Given the description of an element on the screen output the (x, y) to click on. 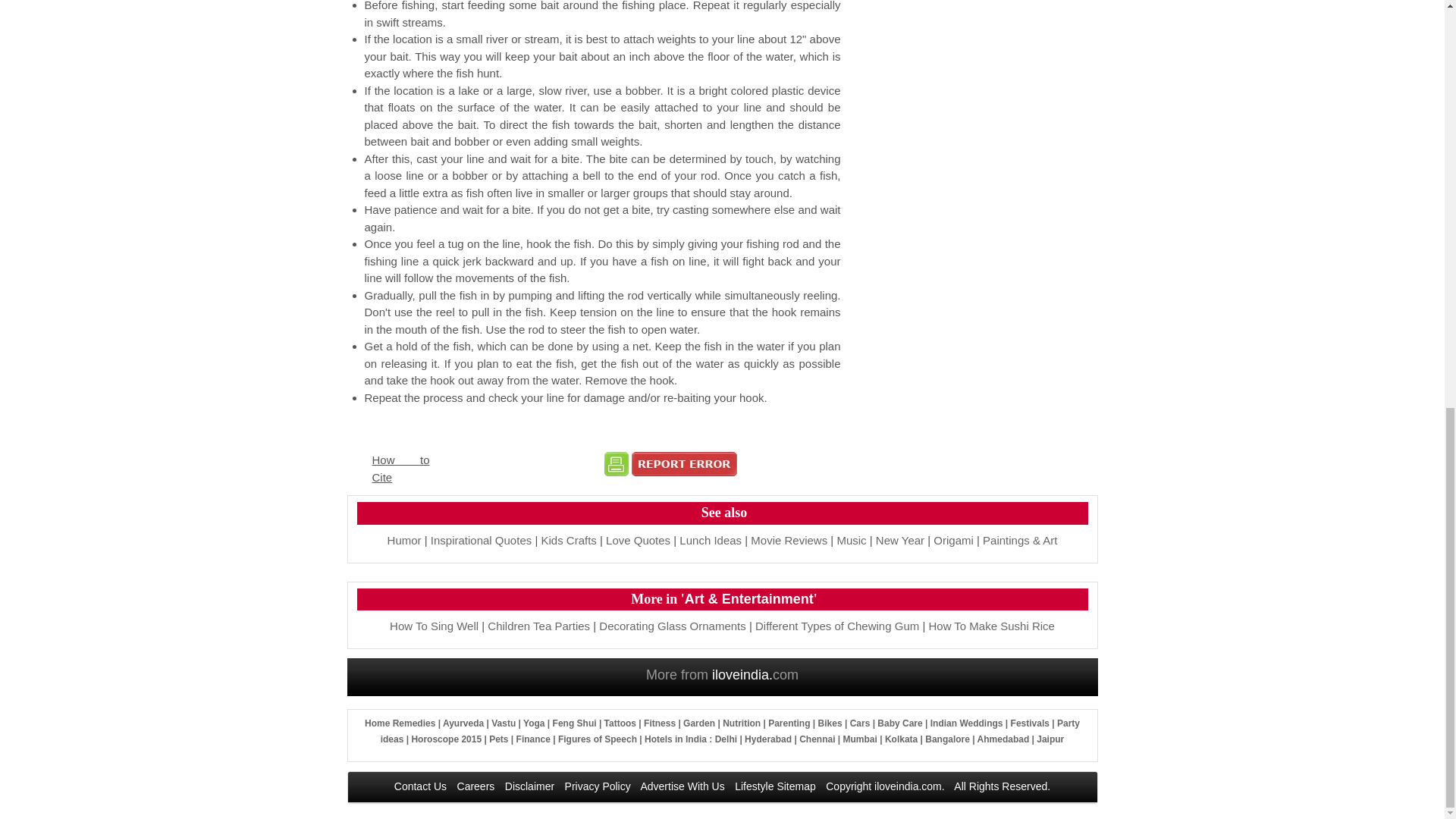
Love Quotes (637, 540)
Inspirational Quotes (480, 540)
Movie Reviews (789, 540)
Kids Crafts (567, 540)
Lunch Ideas (710, 540)
Humor (404, 540)
Music (850, 540)
New Year (900, 540)
